Given the description of an element on the screen output the (x, y) to click on. 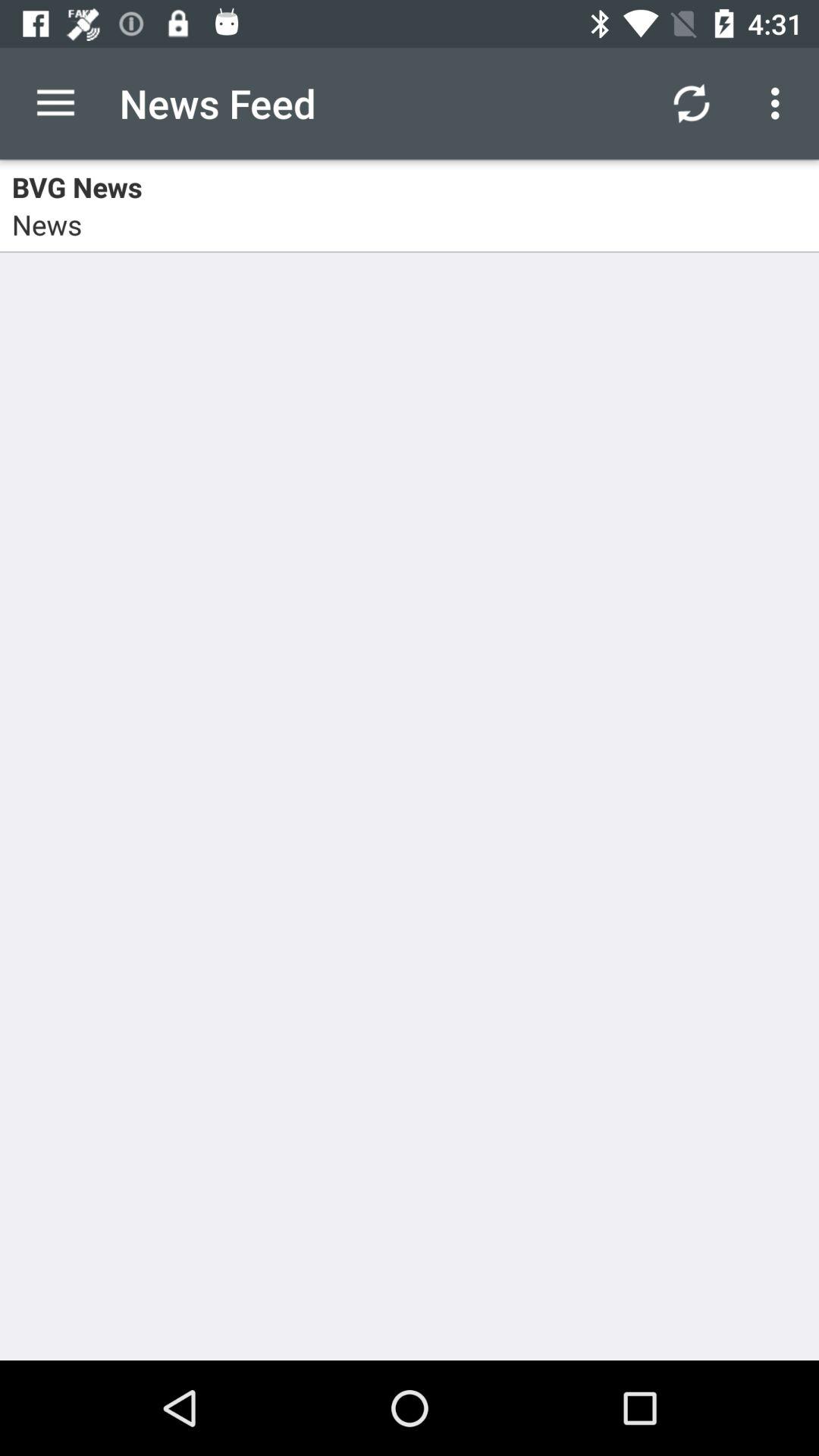
select icon above bvg news icon (779, 103)
